Given the description of an element on the screen output the (x, y) to click on. 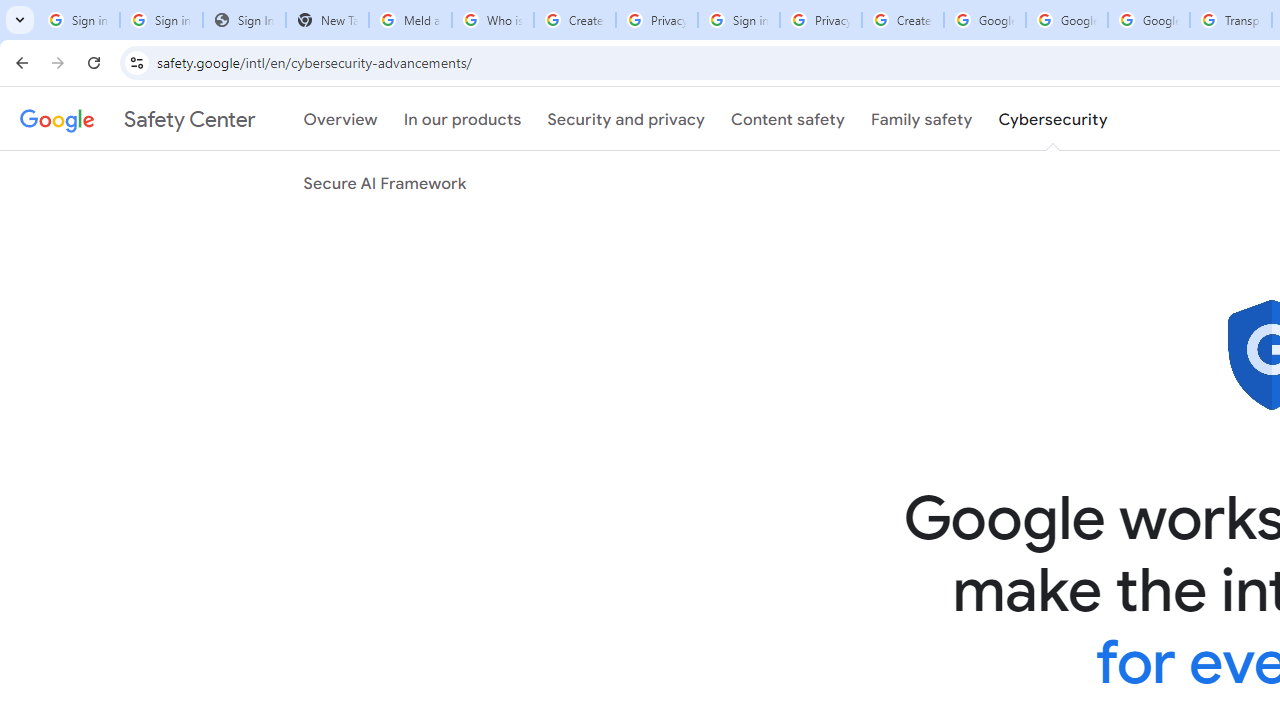
In our products (462, 119)
Secure AI Framework (385, 183)
Cybersecurity (1053, 119)
Sign in - Google Accounts (161, 20)
Create your Google Account (902, 20)
Sign in - Google Accounts (78, 20)
Content safety (787, 119)
Safety Center (137, 119)
